Given the description of an element on the screen output the (x, y) to click on. 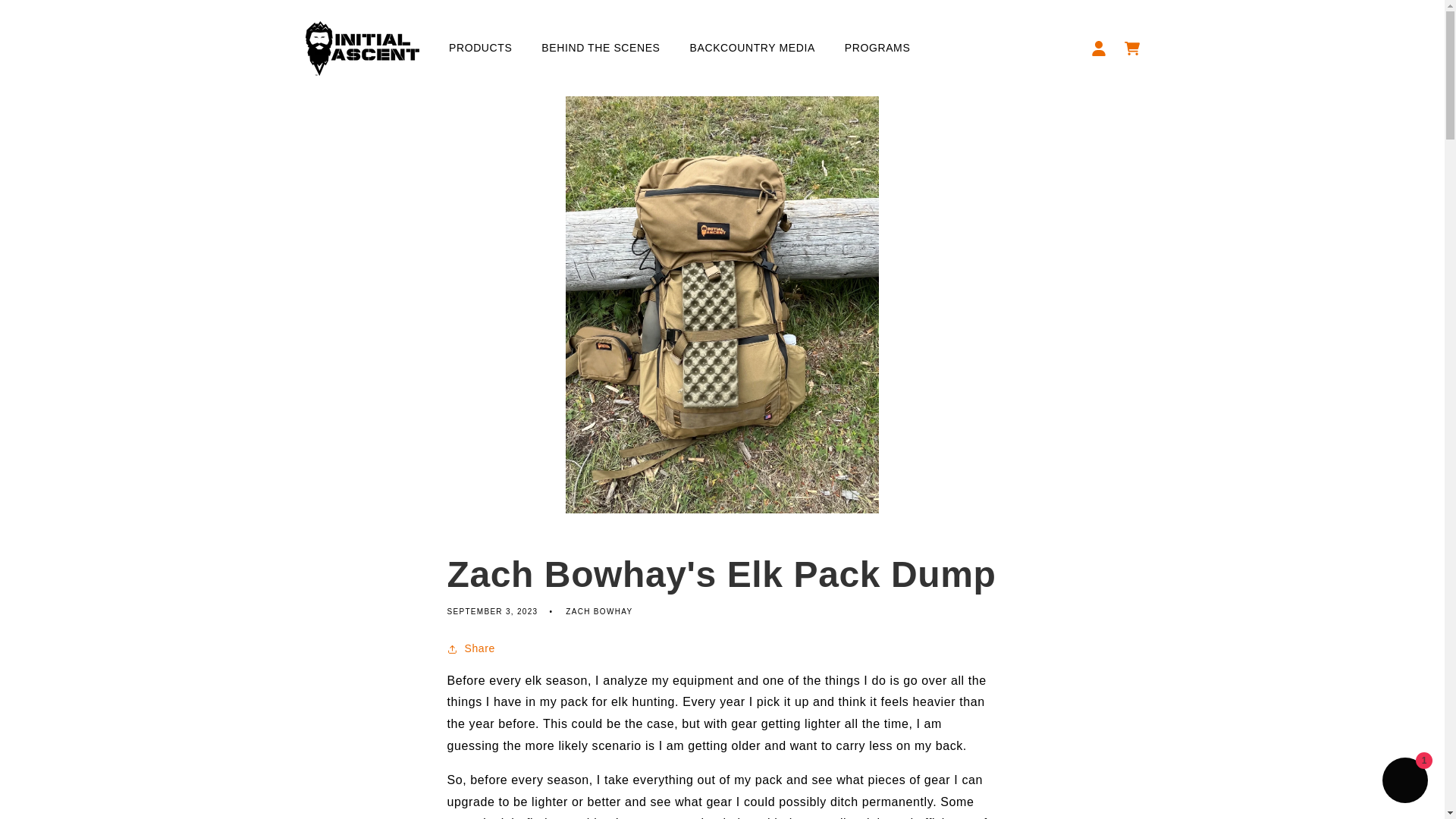
Skip to content (45, 17)
Shopify online store chat (1404, 781)
